Given the description of an element on the screen output the (x, y) to click on. 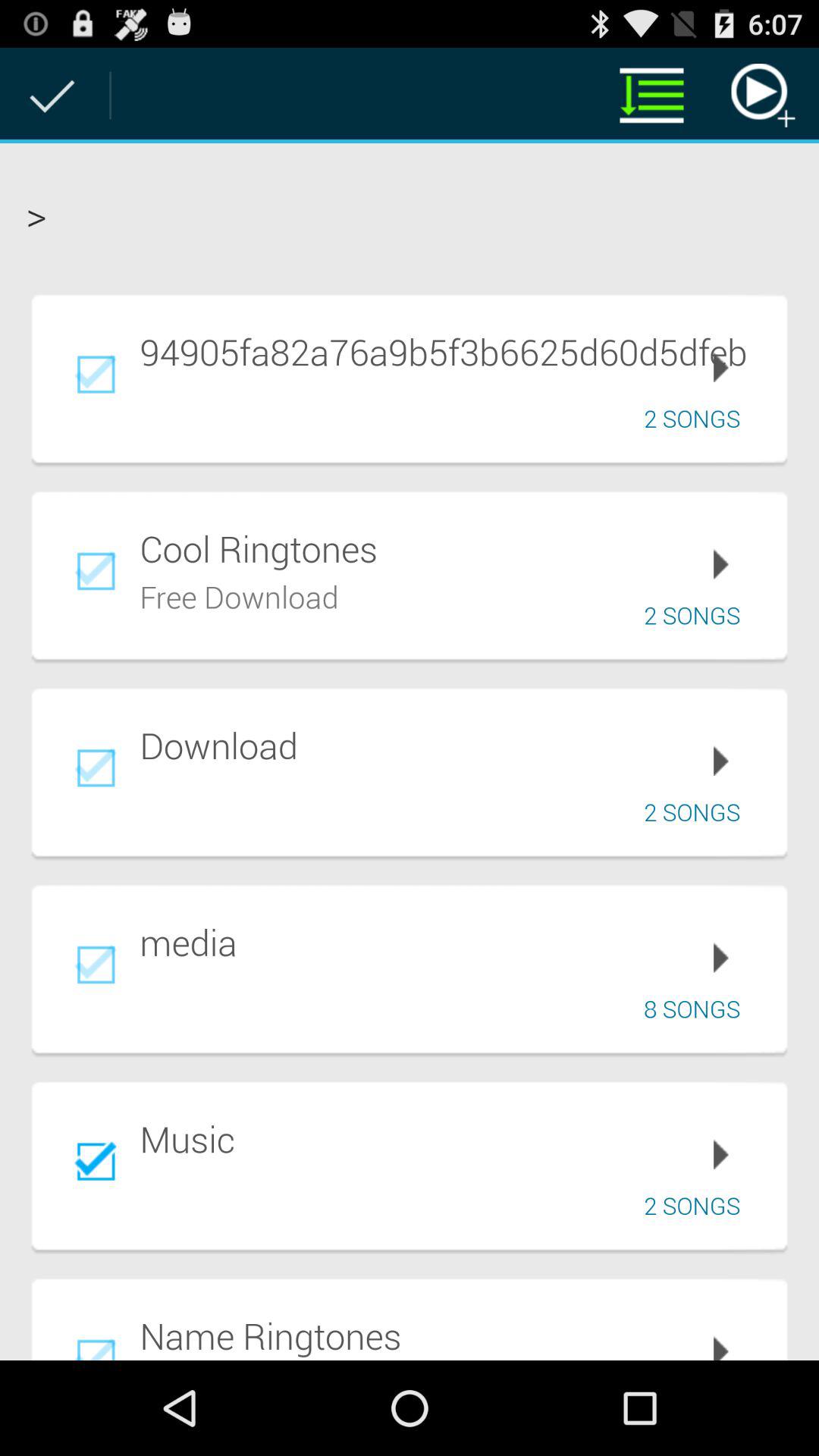
tap app above the 2 songs app (452, 351)
